Given the description of an element on the screen output the (x, y) to click on. 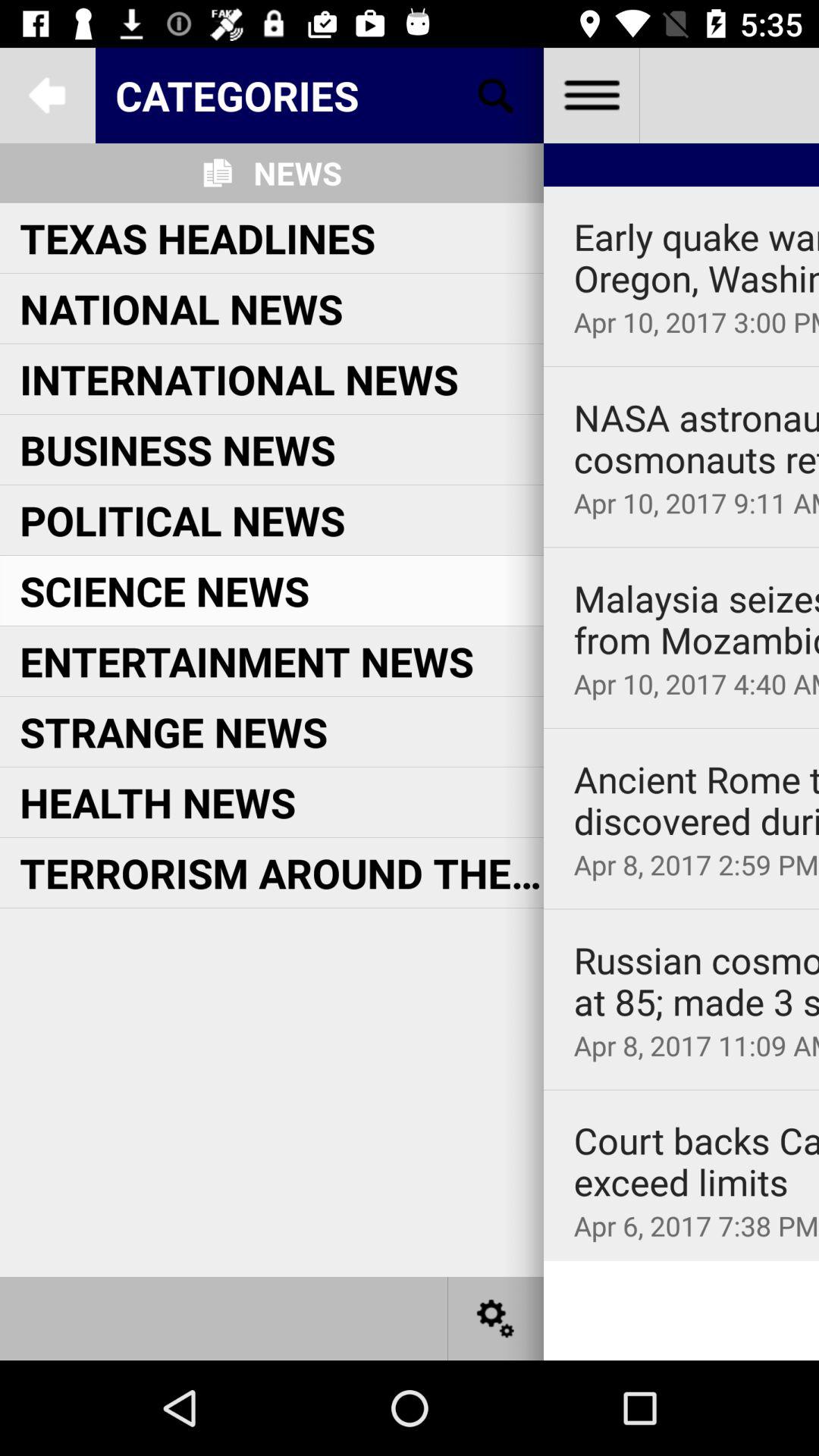
scroll until national news item (180, 308)
